Given the description of an element on the screen output the (x, y) to click on. 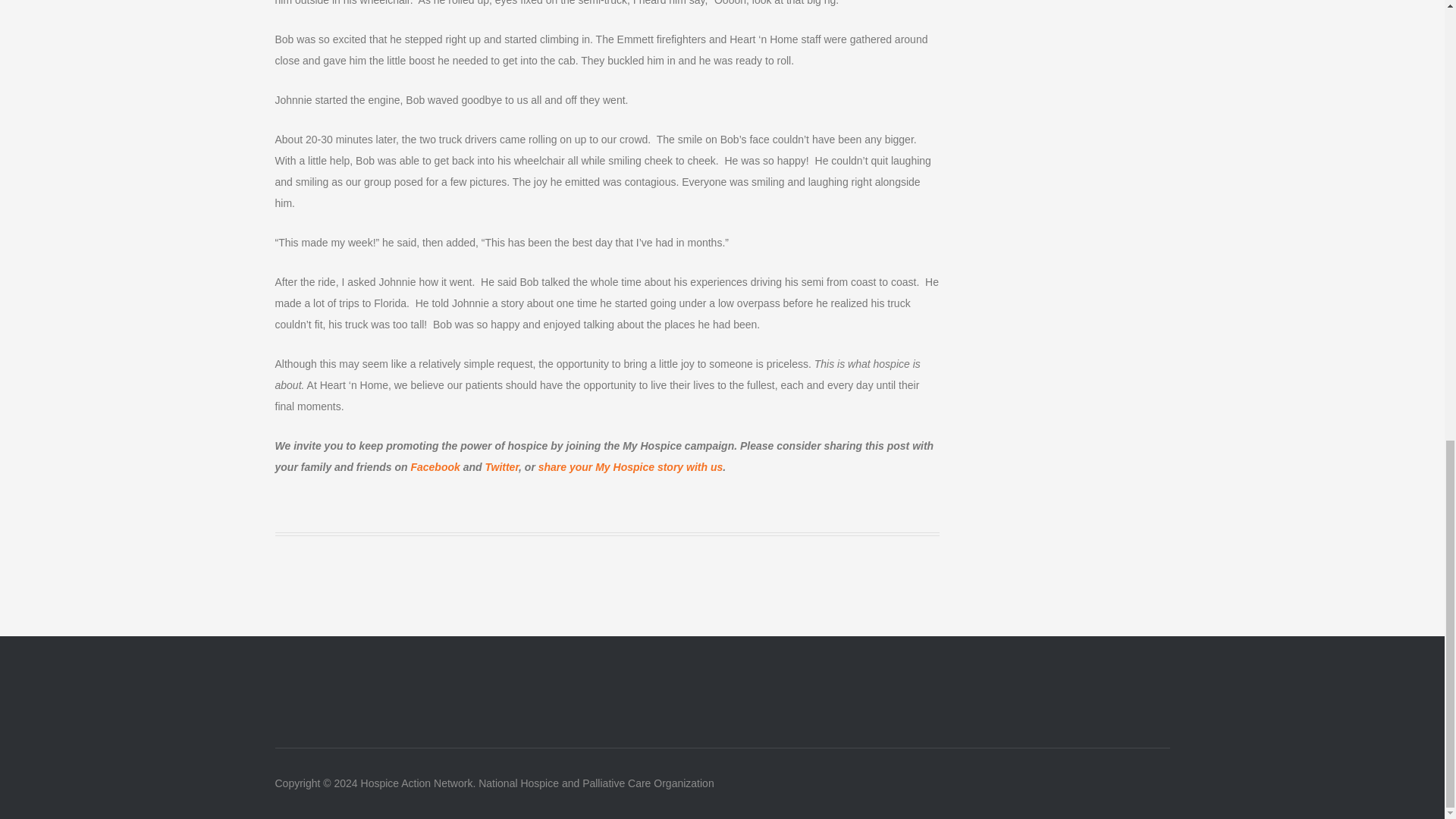
Facebook (435, 467)
